Given the description of an element on the screen output the (x, y) to click on. 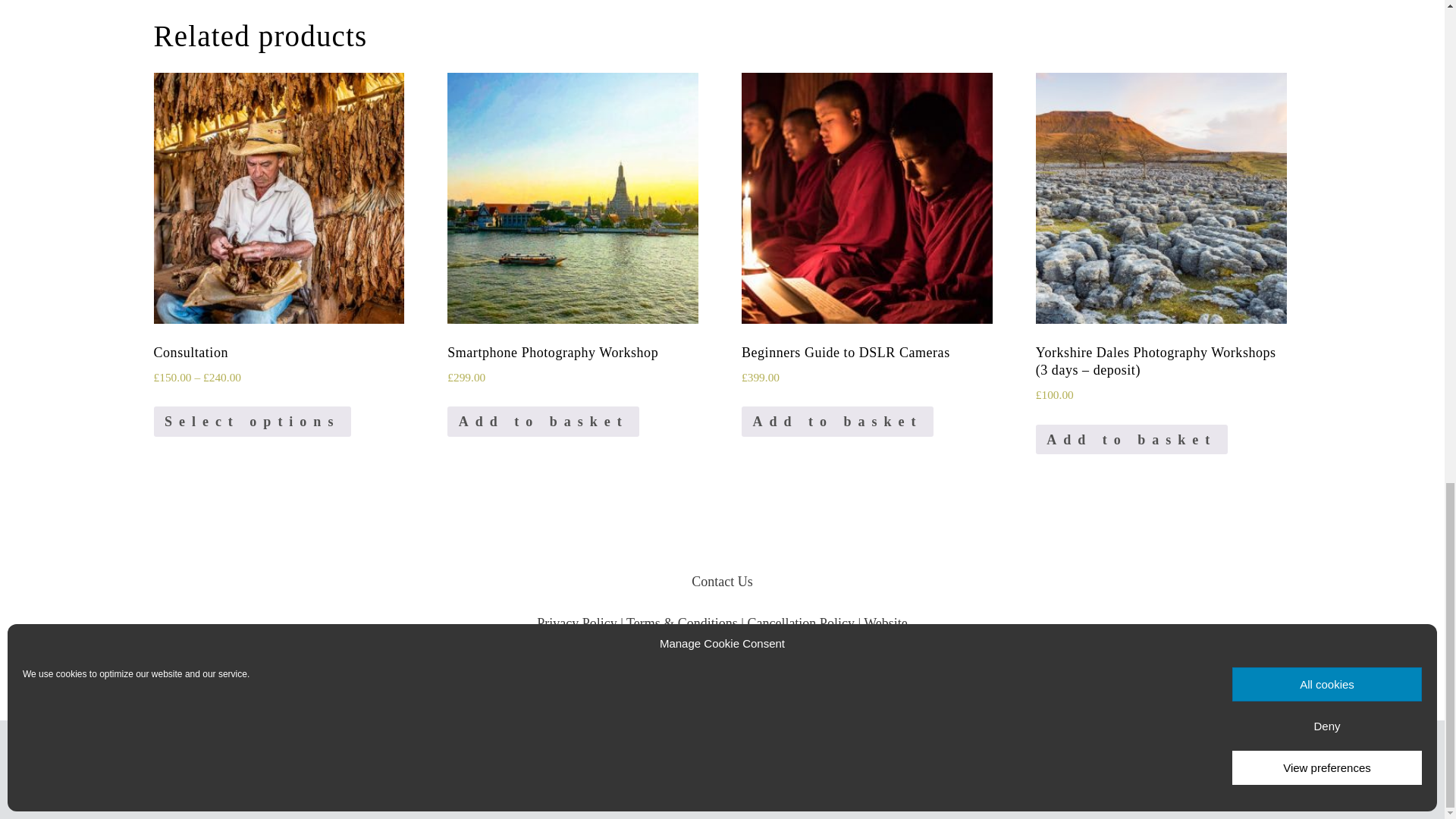
Add to basket (1131, 440)
Select options (251, 421)
Add to basket (837, 421)
Add to basket (542, 421)
